Given the description of an element on the screen output the (x, y) to click on. 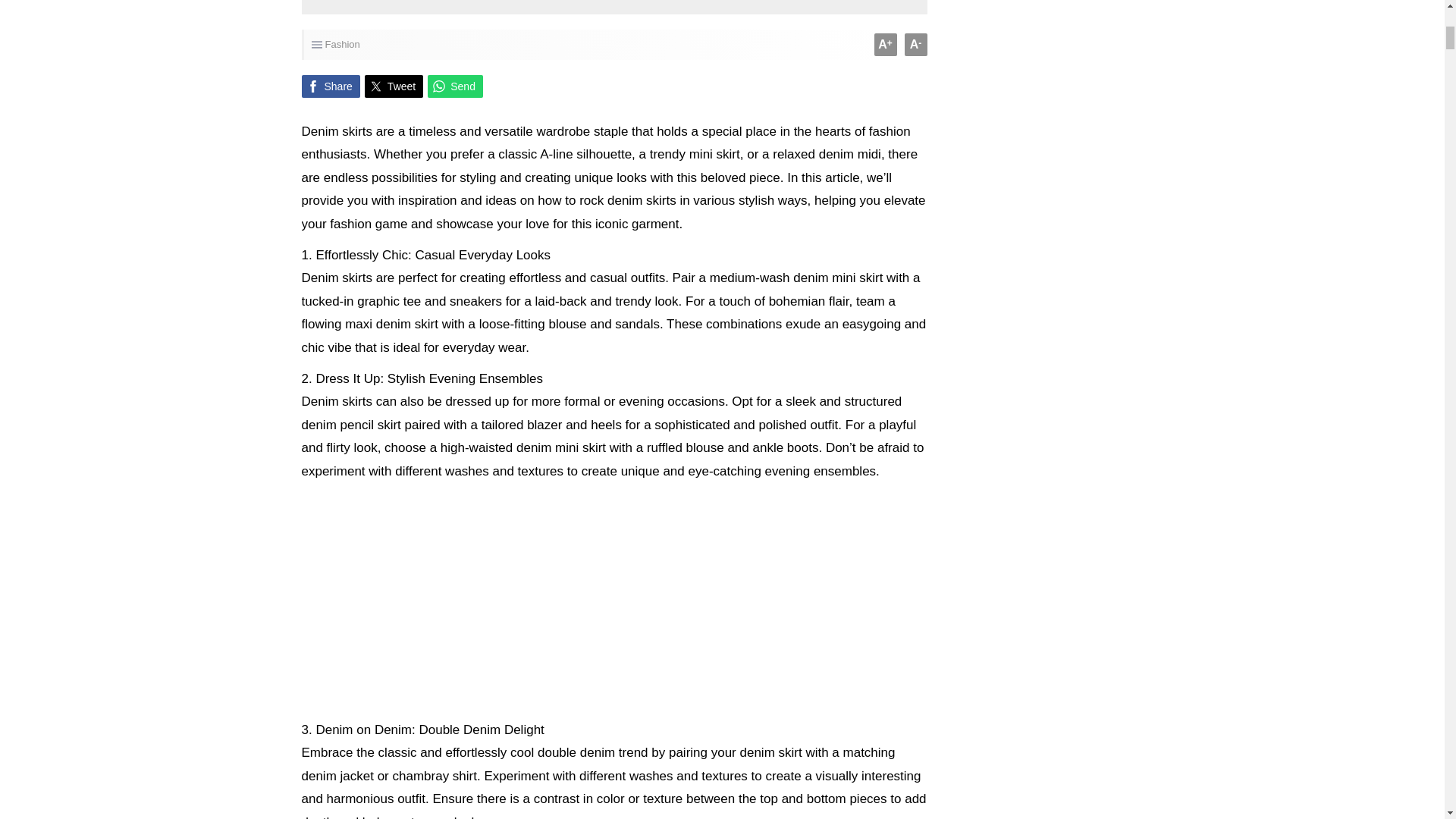
Share on Twitter (394, 86)
Share on Whatsapp (455, 86)
Advertisement (614, 597)
Tweet (394, 86)
Share (330, 86)
Share on Facebook (330, 86)
Send (455, 86)
Fashion (341, 43)
